Given the description of an element on the screen output the (x, y) to click on. 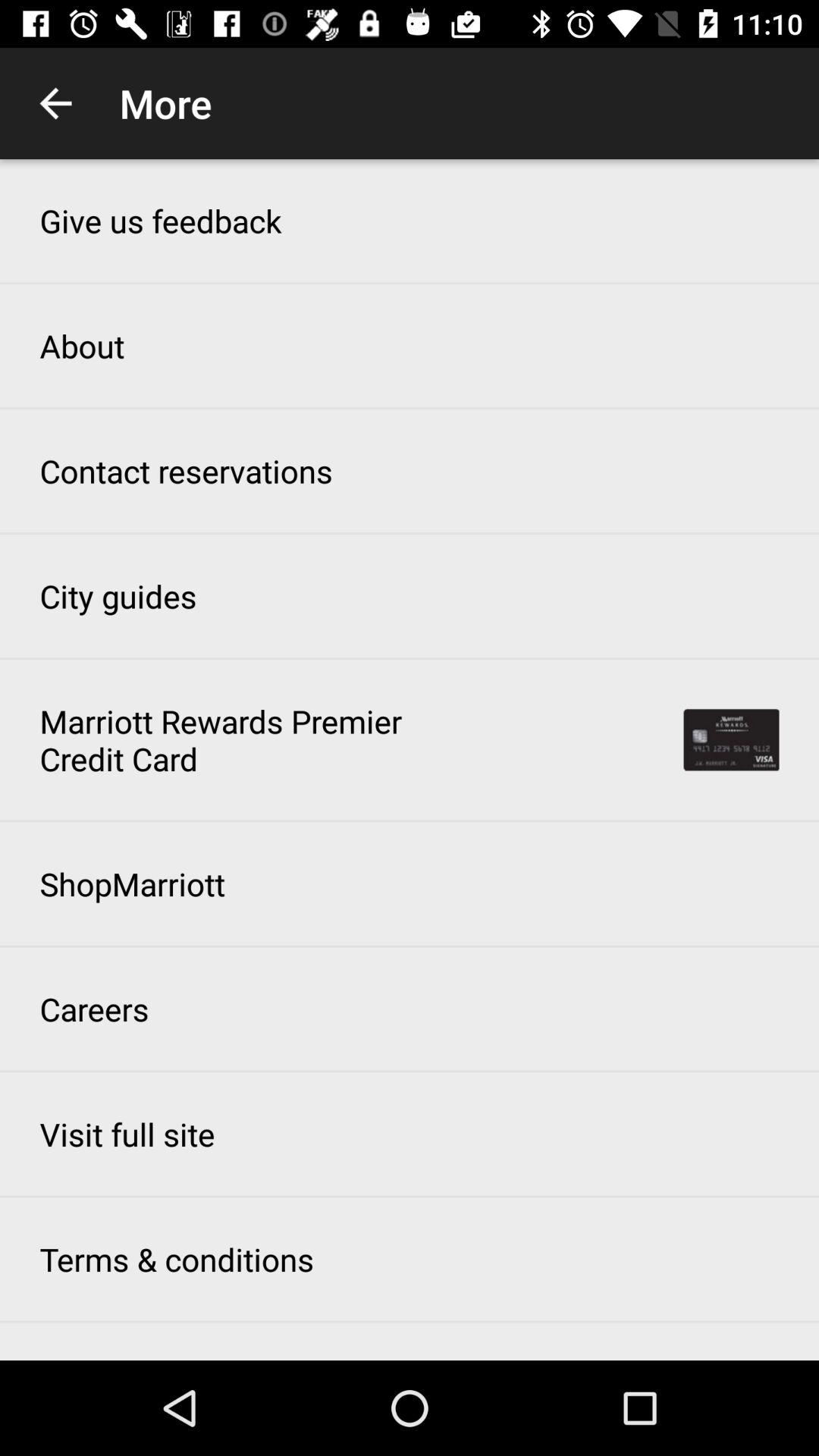
choose the item below city guides icon (229, 739)
